Given the description of an element on the screen output the (x, y) to click on. 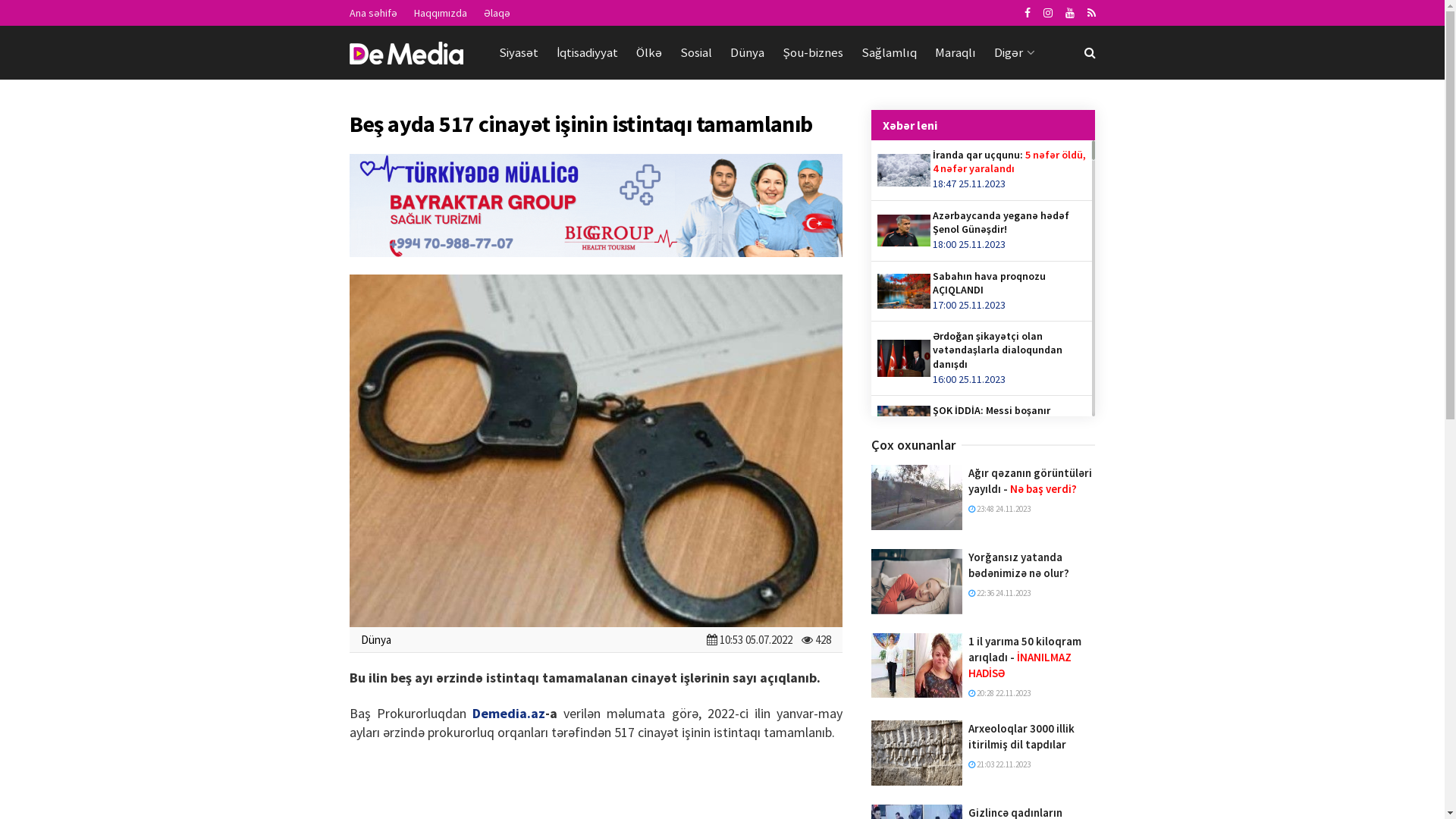
20:28 22.11.2023 Element type: text (999, 692)
23:48 24.11.2023 Element type: text (999, 508)
Demedia.az Element type: text (508, 712)
Sosial Element type: text (695, 52)
21:03 22.11.2023 Element type: text (999, 764)
22:36 24.11.2023 Element type: text (999, 592)
